Given the description of an element on the screen output the (x, y) to click on. 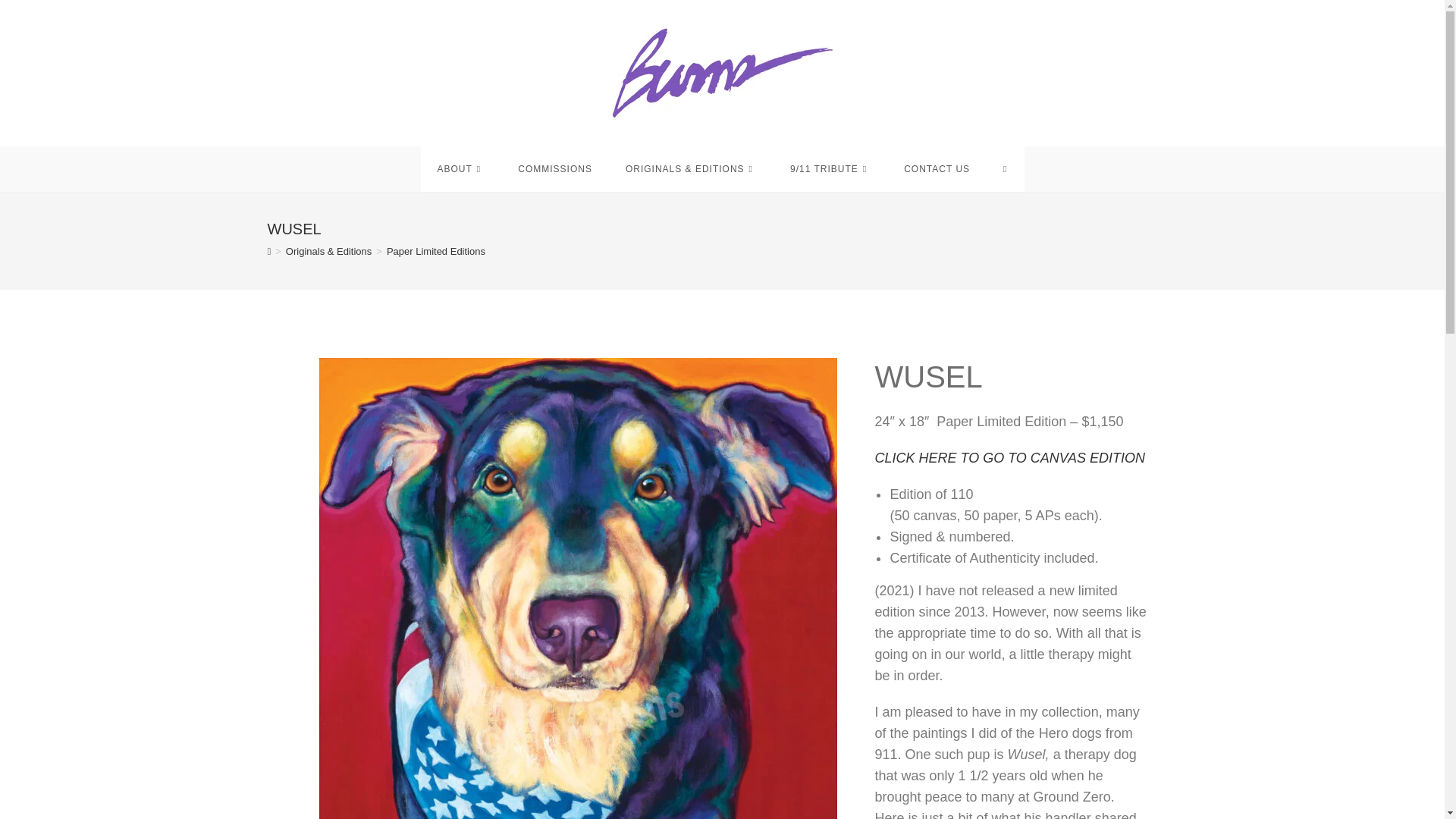
CONTACT US (936, 168)
ABOUT (460, 168)
COMMISSIONS (554, 168)
